Given the description of an element on the screen output the (x, y) to click on. 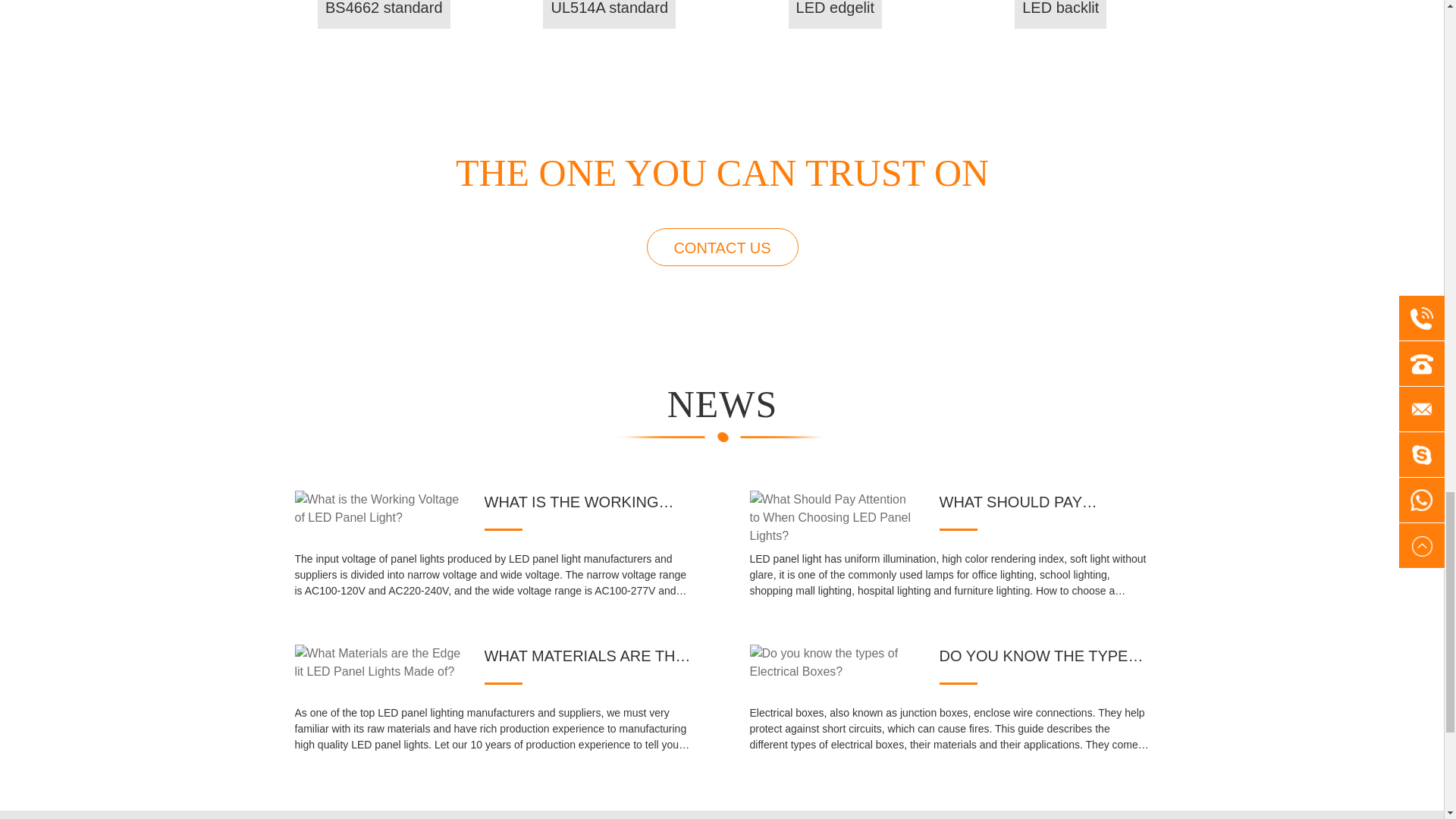
LED edgelit (835, 14)
UL514A standard (609, 14)
CONTACT US (721, 247)
LED backlit (1060, 14)
BS4662 standard (383, 14)
